Given the description of an element on the screen output the (x, y) to click on. 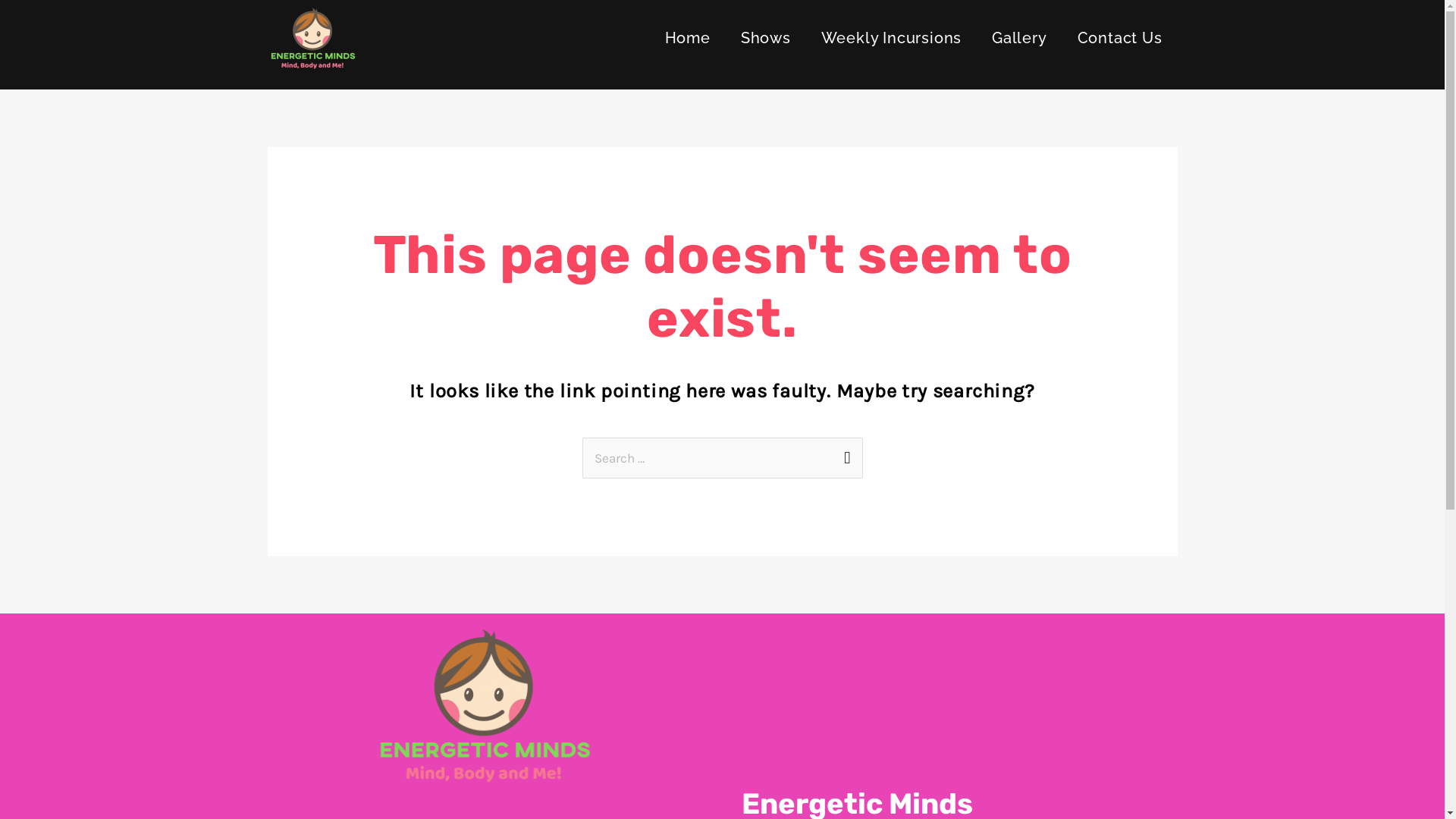
Home Element type: text (687, 38)
Shows Element type: text (765, 38)
Gallery Element type: text (1018, 38)
Weekly Incursions Element type: text (891, 38)
Contact Us Element type: text (1119, 38)
Search Element type: text (845, 452)
